Given the description of an element on the screen output the (x, y) to click on. 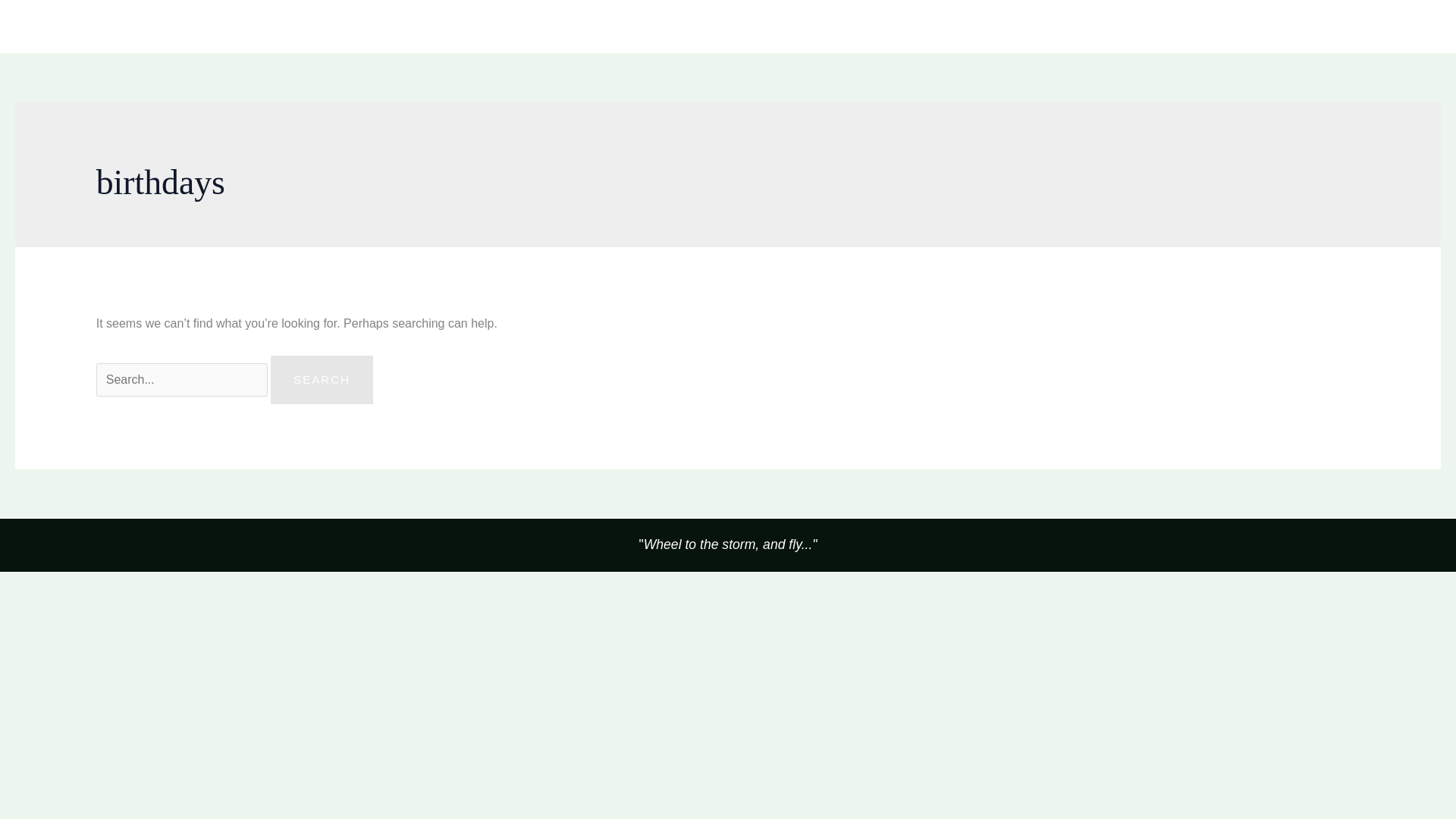
Search (321, 379)
Search (321, 379)
Search (321, 379)
